Given the description of an element on the screen output the (x, y) to click on. 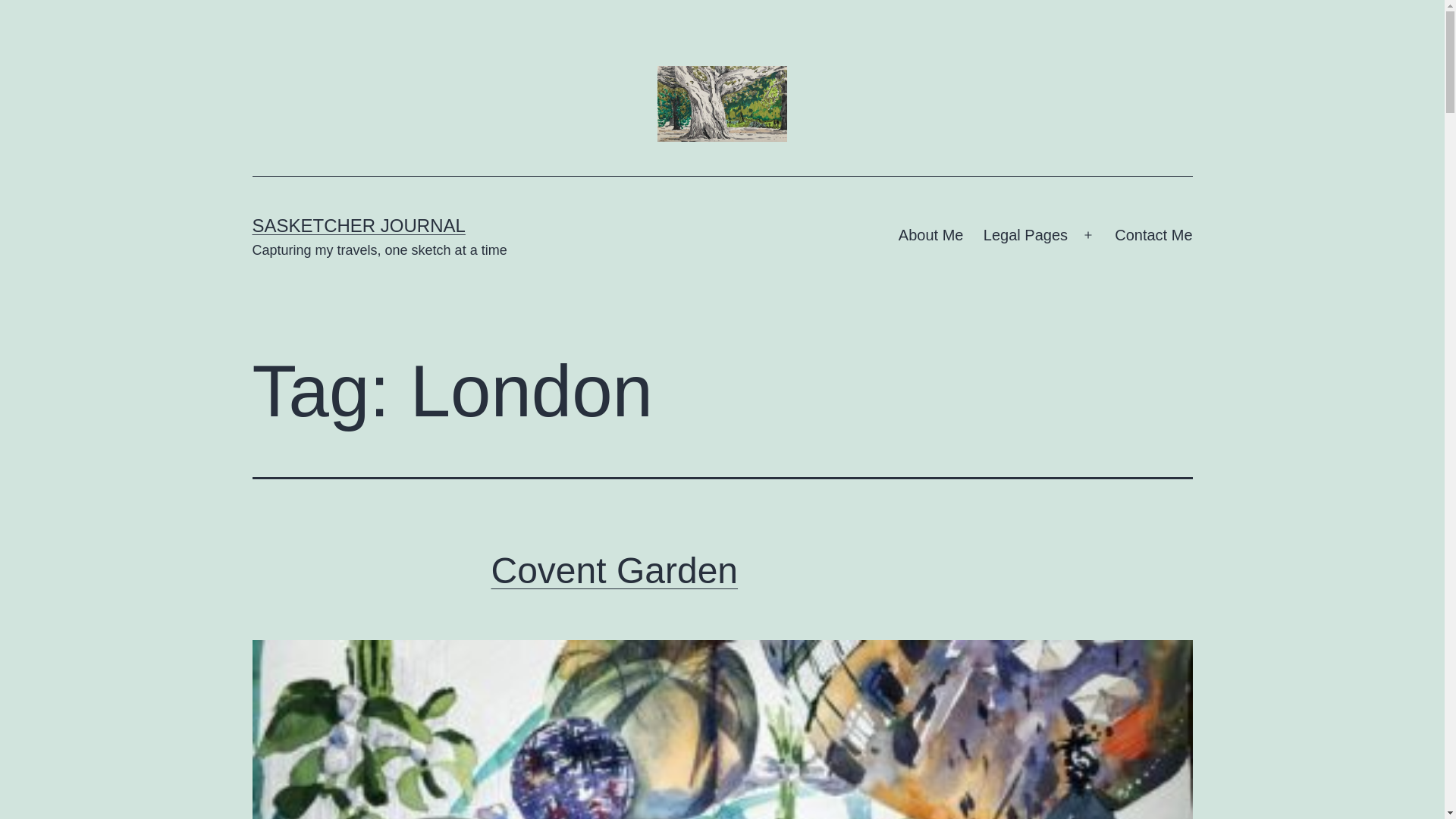
Covent Garden (615, 570)
SASKETCHER JOURNAL (357, 225)
Legal Pages (1026, 234)
Contact Me (1153, 234)
About Me (931, 234)
